Given the description of an element on the screen output the (x, y) to click on. 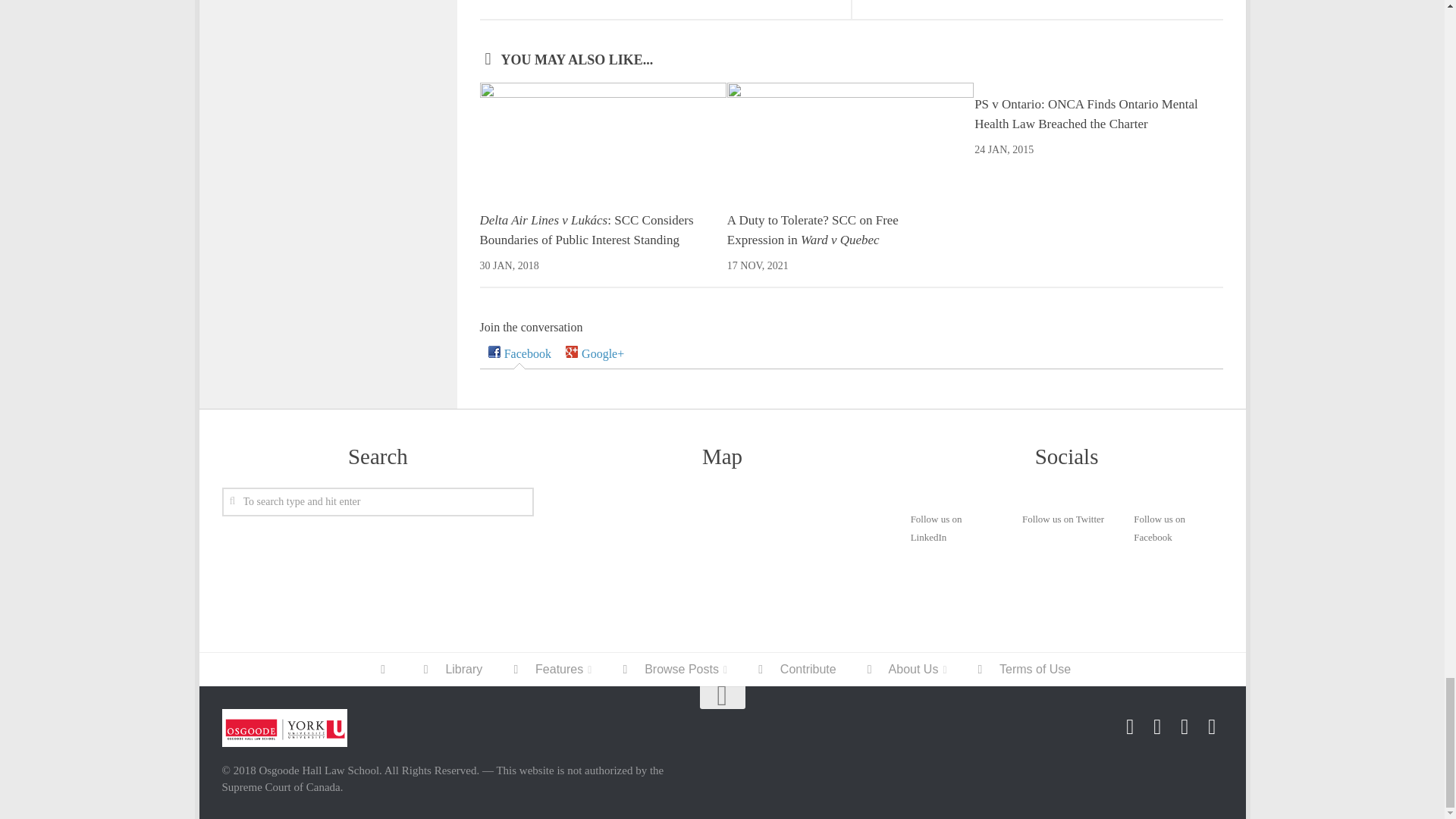
To search type and hit enter (377, 501)
To search type and hit enter (377, 501)
